Given the description of an element on the screen output the (x, y) to click on. 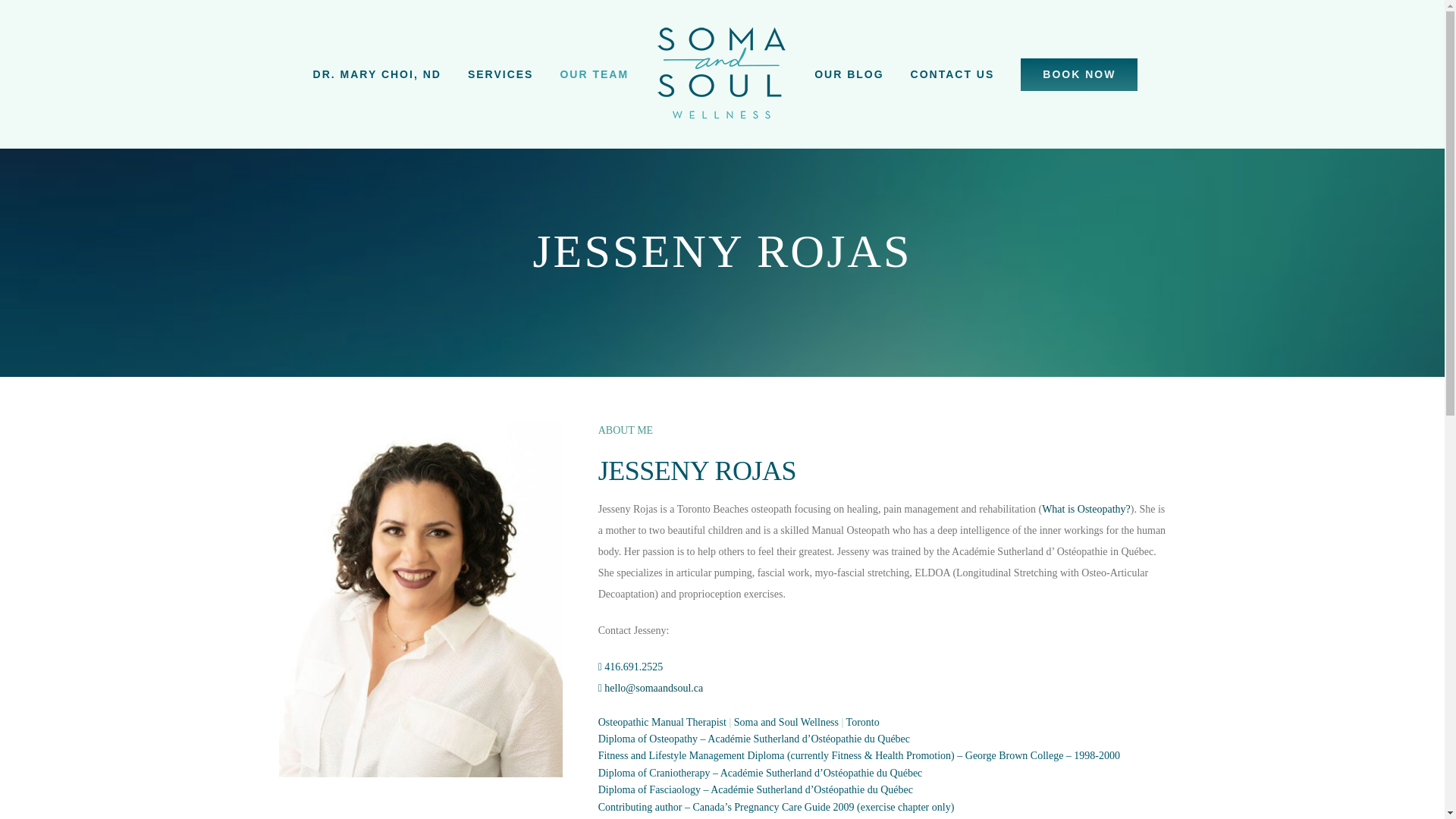
OUR TEAM (593, 74)
CONTACT US (952, 74)
DR. MARY CHOI, ND (377, 74)
OUR BLOG (848, 74)
BOOK NOW (1078, 74)
SERVICES (500, 74)
